Given the description of an element on the screen output the (x, y) to click on. 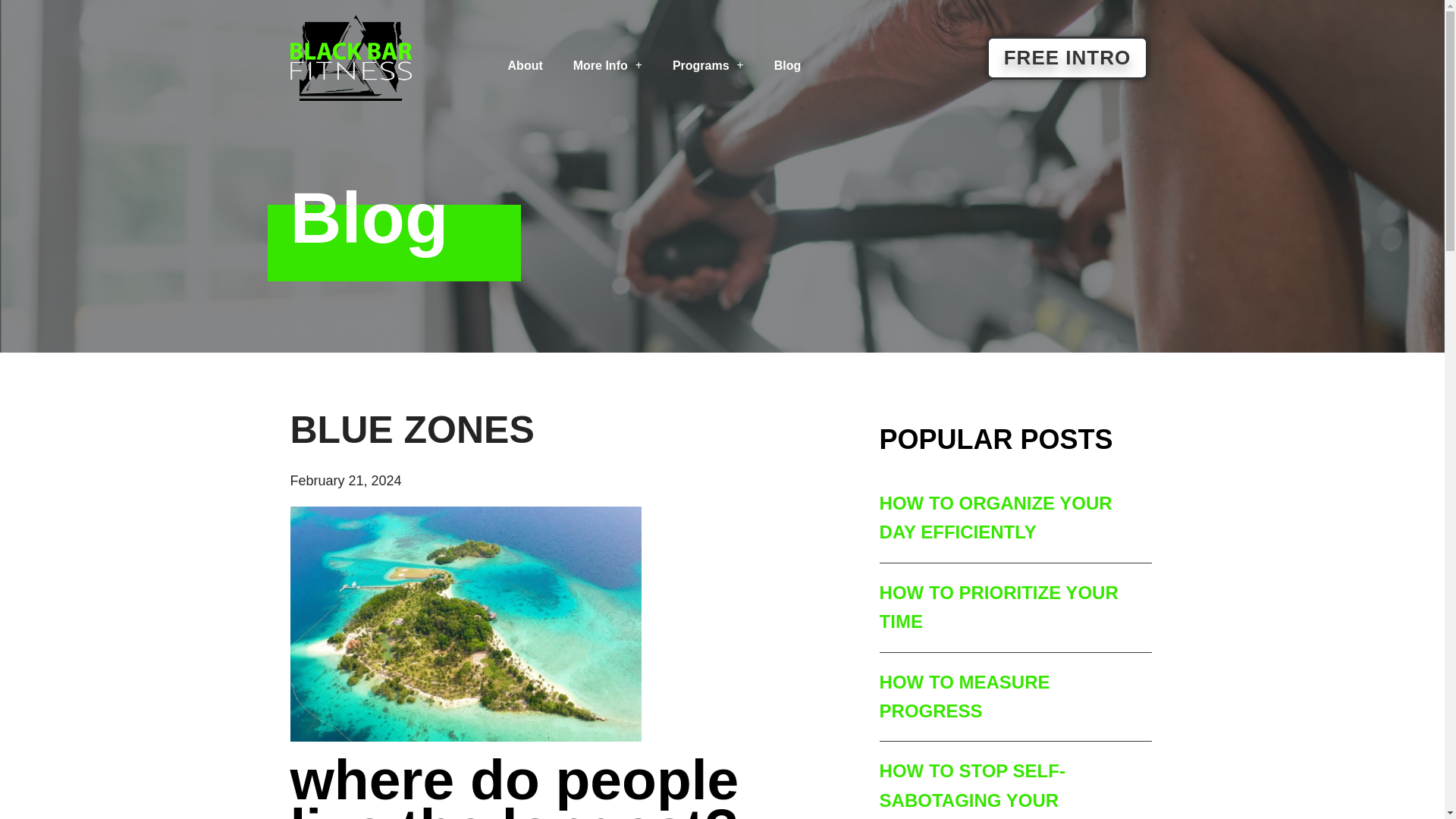
Programs (708, 65)
FREE INTRO (1067, 57)
Blog (787, 65)
HOW TO PRIORITIZE YOUR TIME (998, 606)
HOW TO MEASURE PROGRESS (964, 696)
About (525, 65)
HOW TO STOP SELF-SABOTAGING YOUR NUTRITION ON THE WEEKENDS (972, 789)
HOW TO ORGANIZE YOUR DAY EFFICIENTLY (995, 517)
More Info (607, 65)
